Given the description of an element on the screen output the (x, y) to click on. 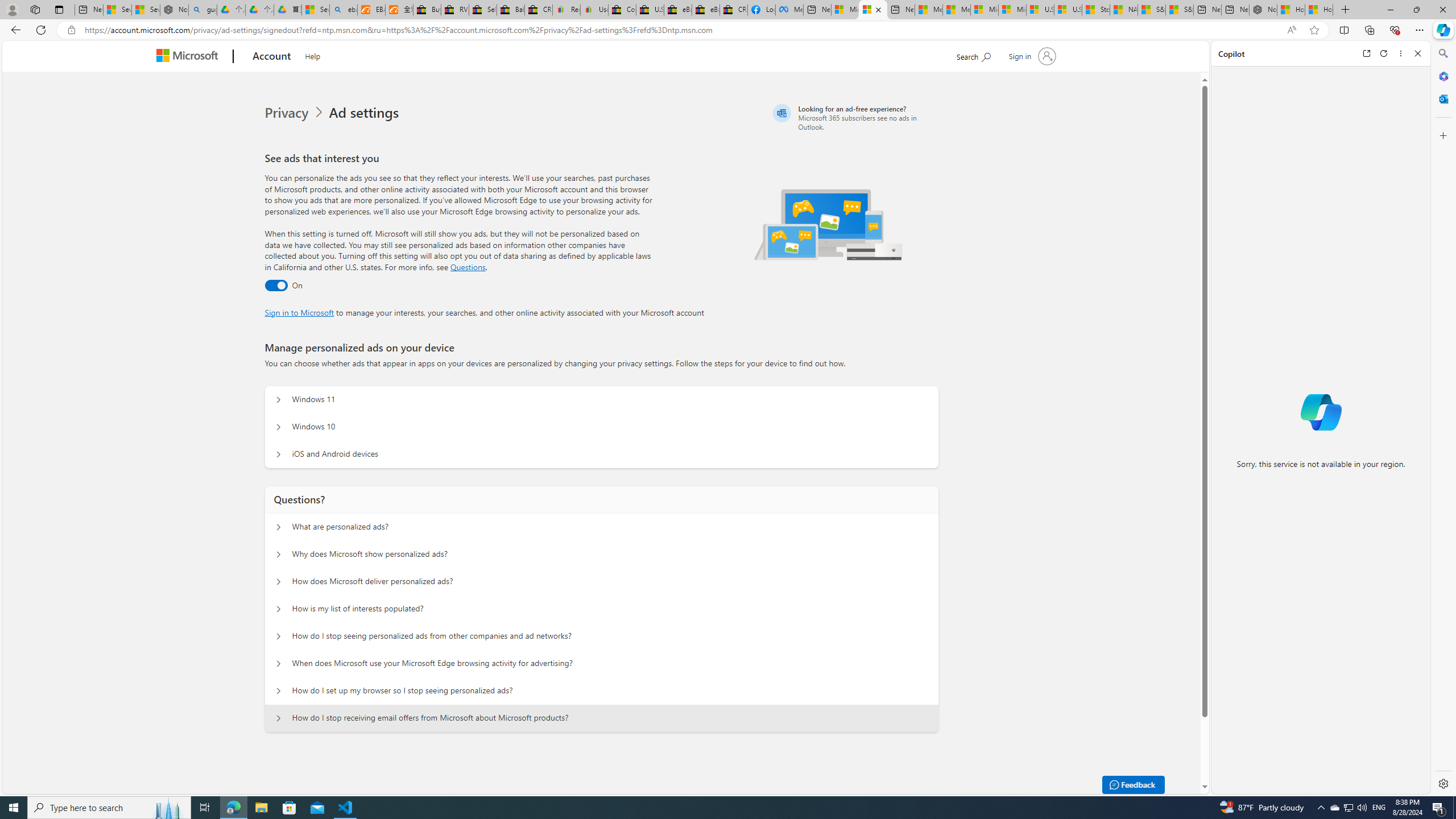
Tab actions menu (58, 9)
Refresh (1383, 53)
Microsoft 365 (1442, 76)
Illustration of multiple devices (829, 224)
Address and search bar (680, 29)
S&P 500, Nasdaq end lower, weighed by Nvidia dip | Watch (1179, 9)
Read aloud this page (Ctrl+Shift+U) (1291, 29)
How to Use a Monitor With Your Closed Laptop (1319, 9)
View site information (70, 29)
Privacy (295, 112)
Outlook (1442, 98)
Ad settings toggle (276, 285)
Questions? What are personalized ads? (278, 526)
